Given the description of an element on the screen output the (x, y) to click on. 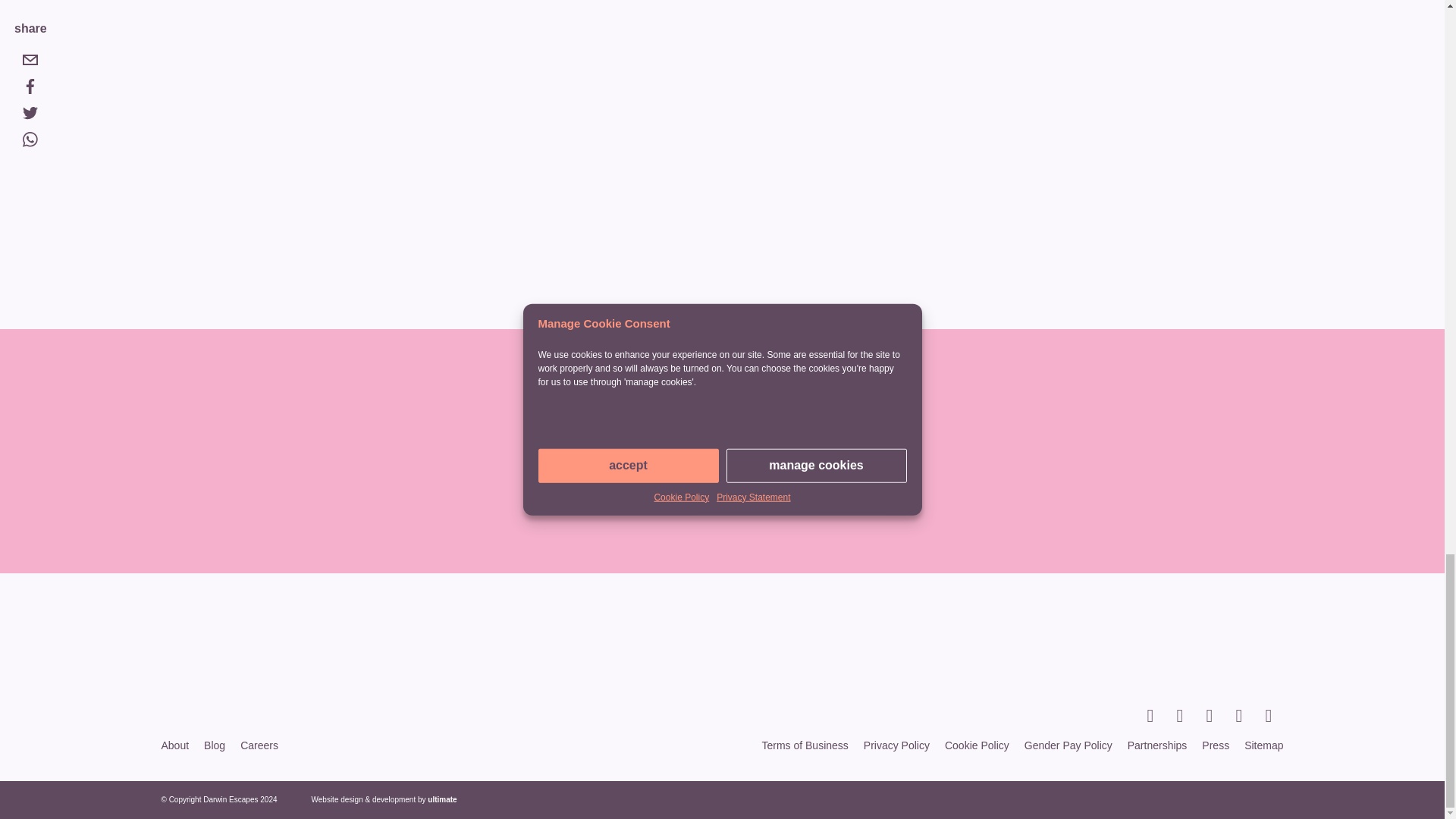
Tiktok (1273, 715)
Youtube (1244, 715)
Facebook (1155, 715)
Instagram (1214, 715)
Twitter (1185, 715)
